Given the description of an element on the screen output the (x, y) to click on. 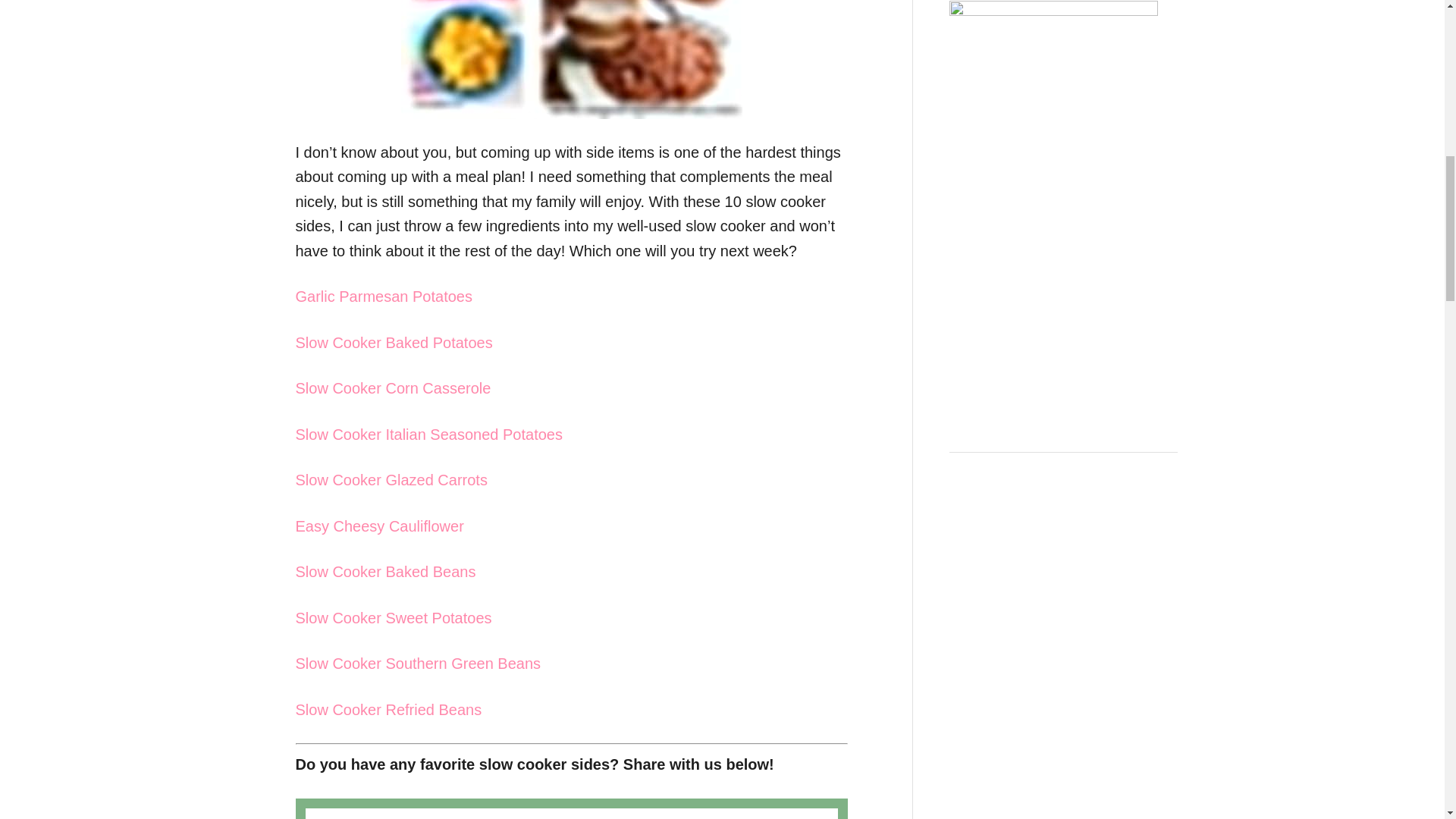
Slow Cooker Sweet Potatoes (393, 617)
Easy Cheesy Cauliflower (379, 525)
Slow Cooker Glazed Carrots (391, 479)
Slow Cooker Baked Potatoes (394, 342)
Slow Cooker Southern Green Beans (418, 663)
Slow Cooker Refried Beans (388, 709)
Slow Cooker Italian Seasoned Potatoes (428, 434)
Slow Cooker Corn Casserole (393, 388)
Slow Cooker Baked Beans (385, 571)
Garlic Parmesan Potatoes (383, 296)
